Given the description of an element on the screen output the (x, y) to click on. 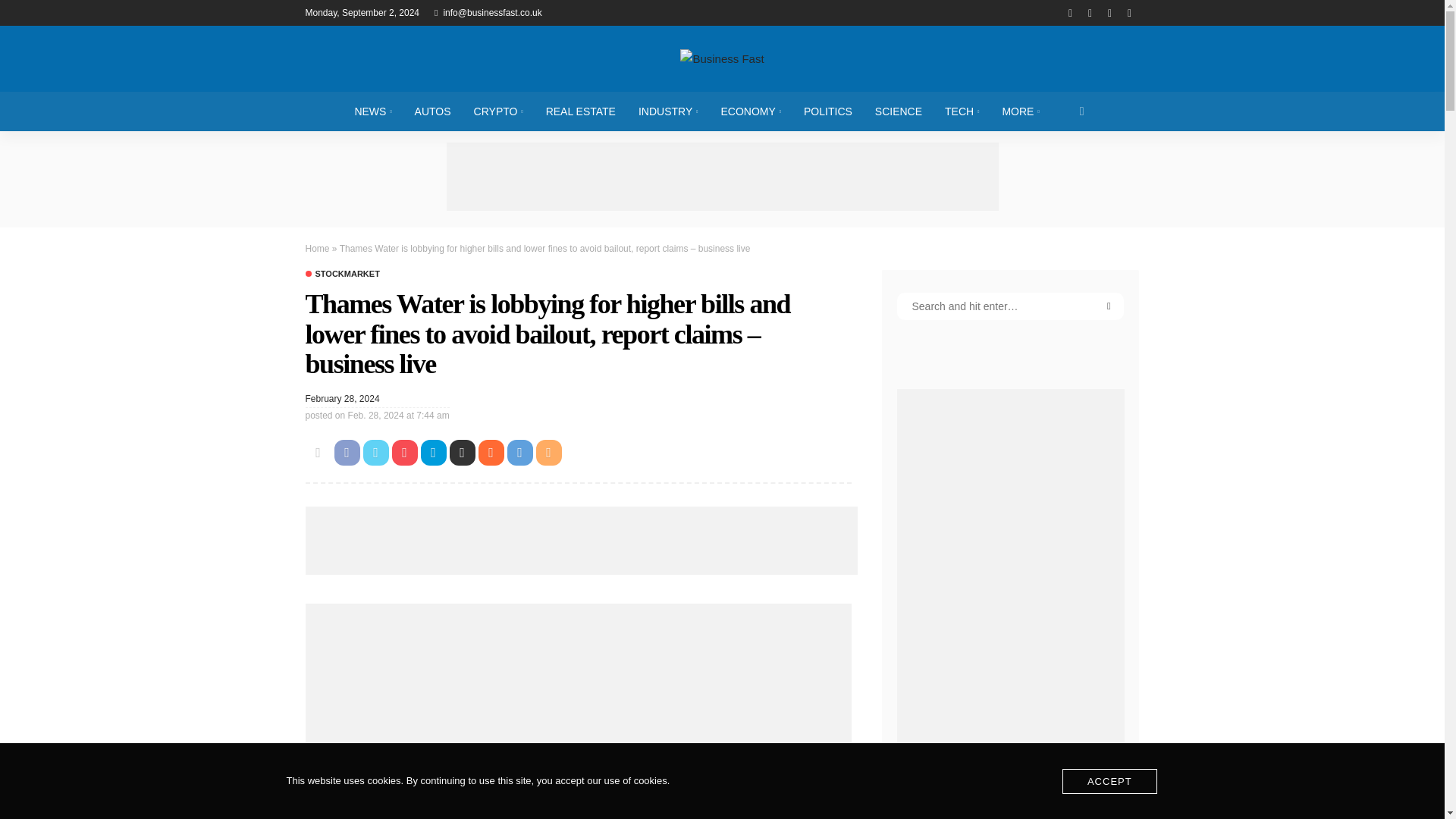
POLITICS (827, 111)
AUTOS (433, 111)
REAL ESTATE (580, 111)
INDUSTRY (668, 111)
Advertisement (580, 540)
ECONOMY (750, 111)
search (1082, 111)
Advertisement (721, 176)
SCIENCE (898, 111)
Stockmarket (341, 274)
